Given the description of an element on the screen output the (x, y) to click on. 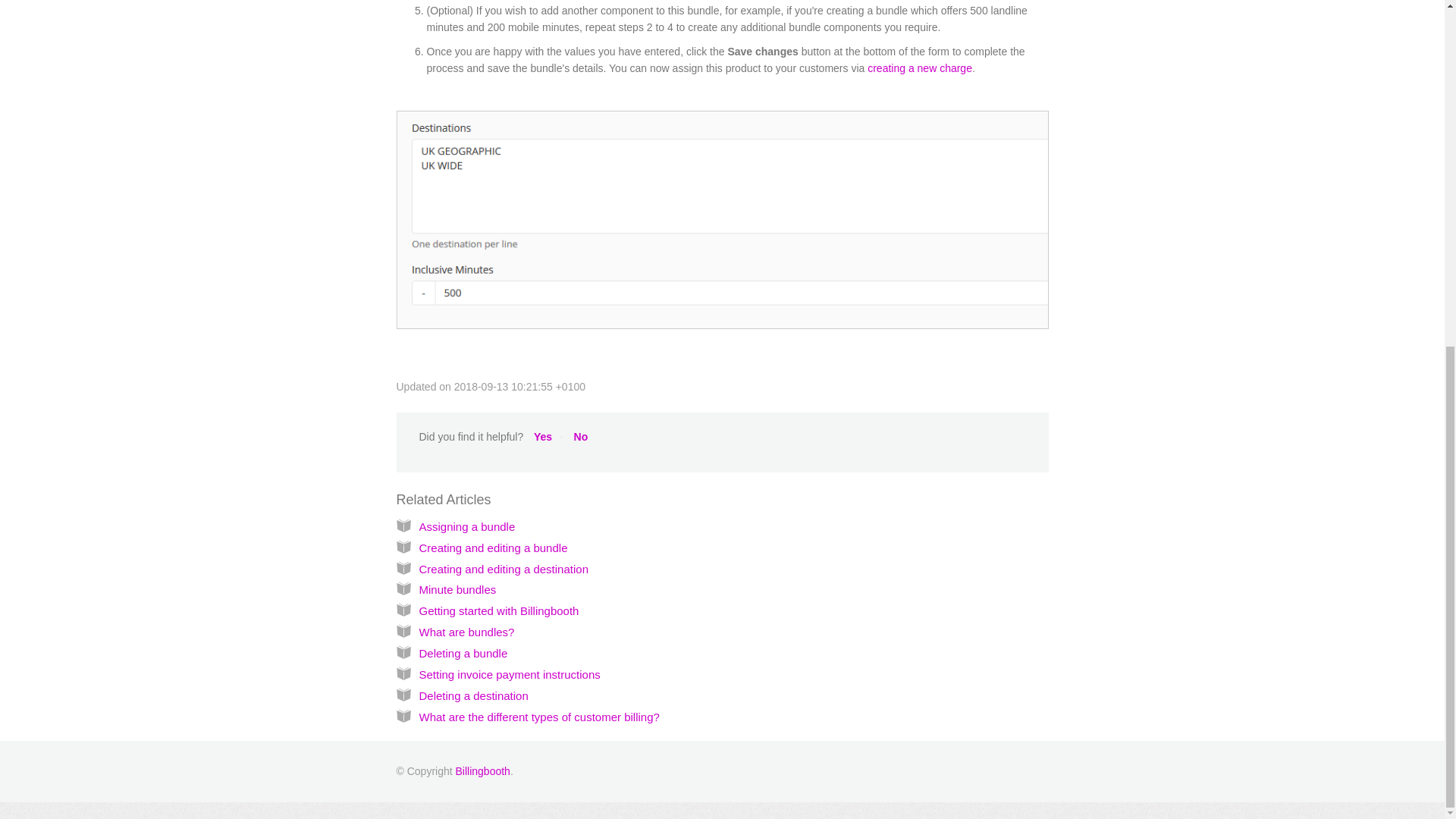
Creating and editing a bundle (493, 547)
creating a new charge (919, 68)
Deleting a destination (473, 695)
What are bundles? (466, 631)
Getting started with Billingbooth (498, 610)
Billingbooth (483, 770)
What are the different types of customer billing? (539, 716)
Assigning a bundle (467, 526)
Setting invoice payment instructions (509, 674)
Creating and editing a destination (503, 568)
